Given the description of an element on the screen output the (x, y) to click on. 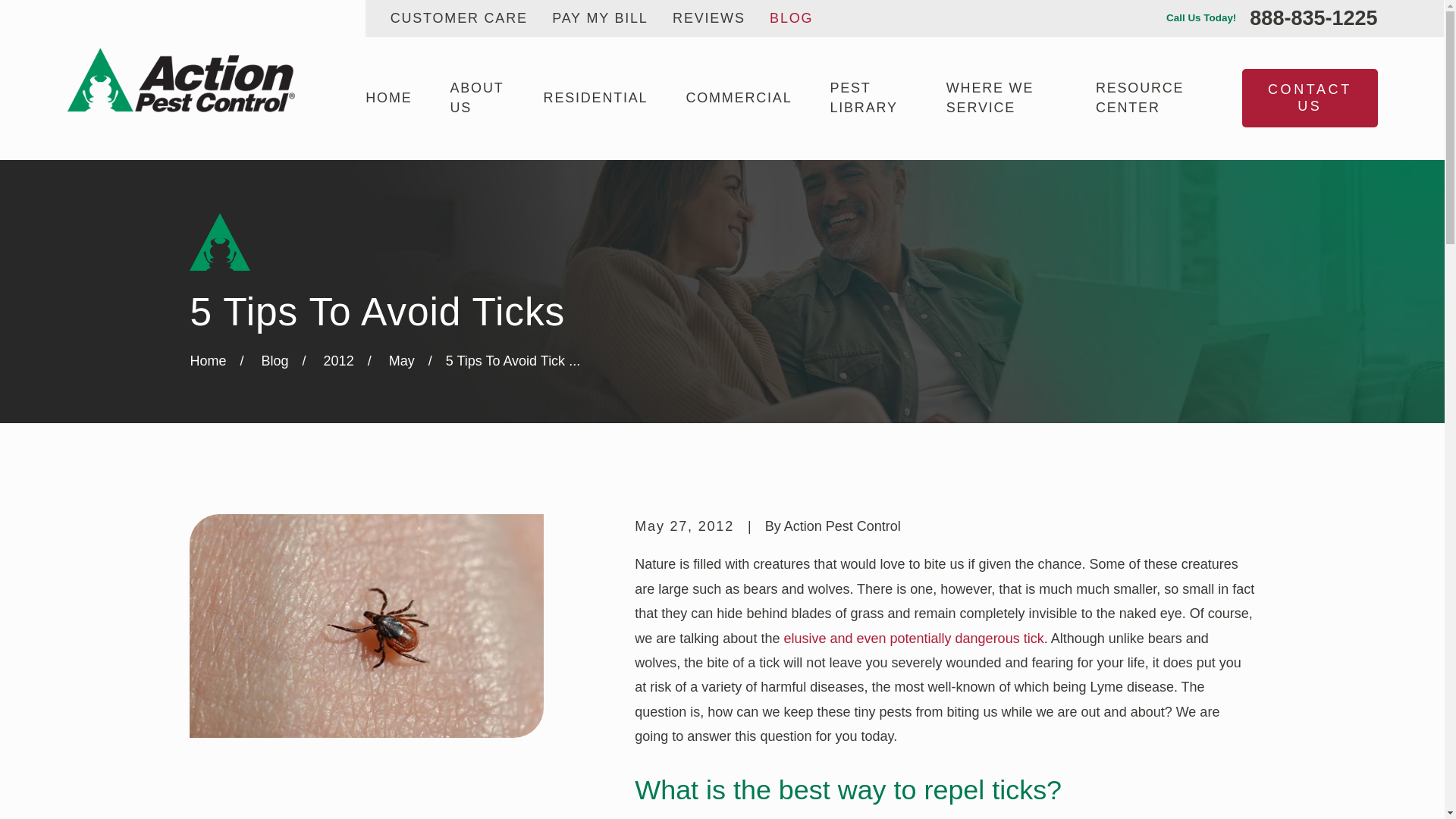
BLOG (791, 17)
REVIEWS (708, 17)
RESOURCE CENTER (1150, 98)
COMMERCIAL (738, 98)
Home (180, 79)
Go Home (207, 360)
888-835-1225 (1313, 18)
WHERE WE SERVICE (1002, 98)
CUSTOMER CARE (458, 17)
RESIDENTIAL (595, 98)
